Given the description of an element on the screen output the (x, y) to click on. 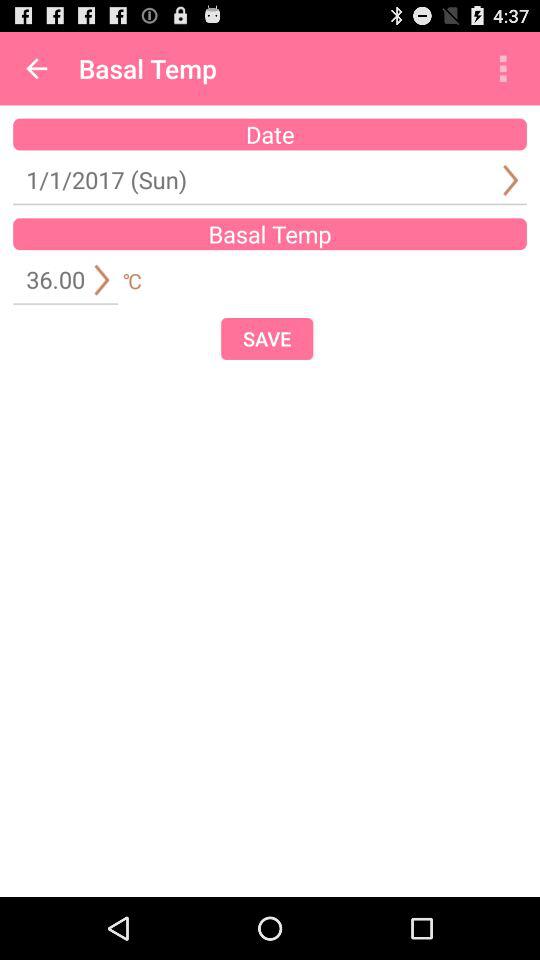
launch the item to the right of basal temp (503, 67)
